Given the description of an element on the screen output the (x, y) to click on. 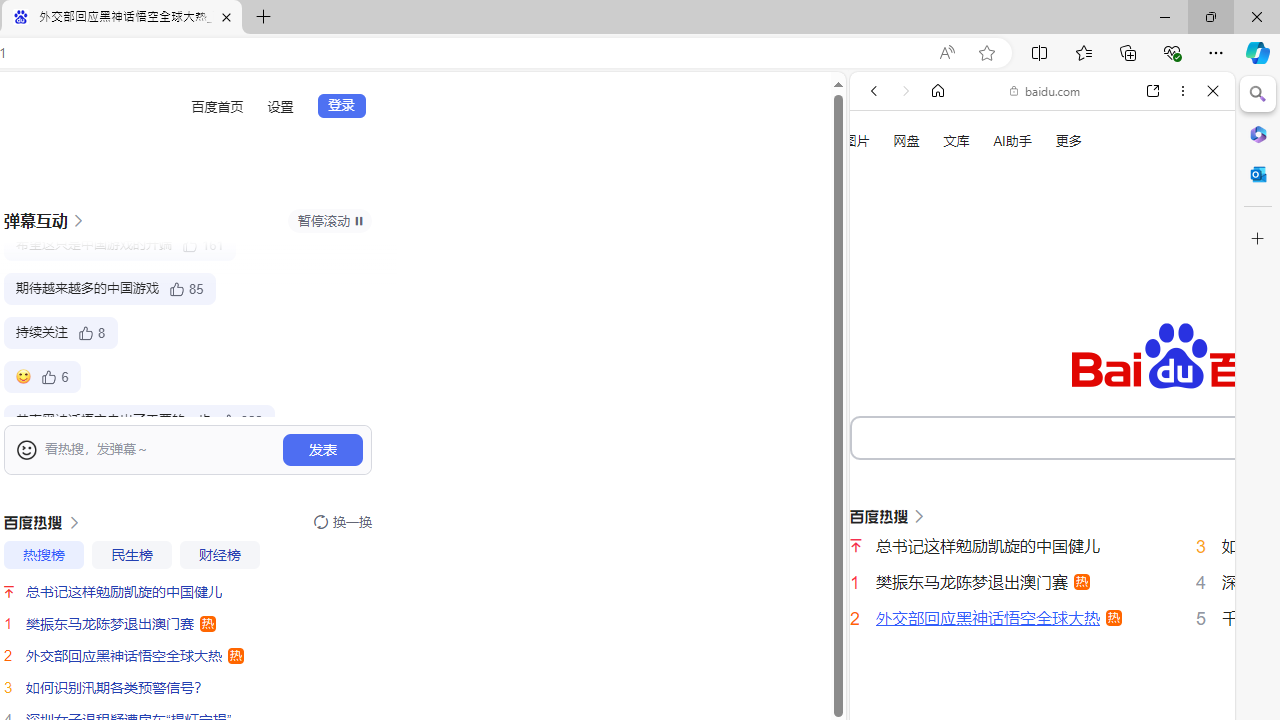
Cambridge Dictionary (1034, 698)
English (Uk) (1042, 622)
